Given the description of an element on the screen output the (x, y) to click on. 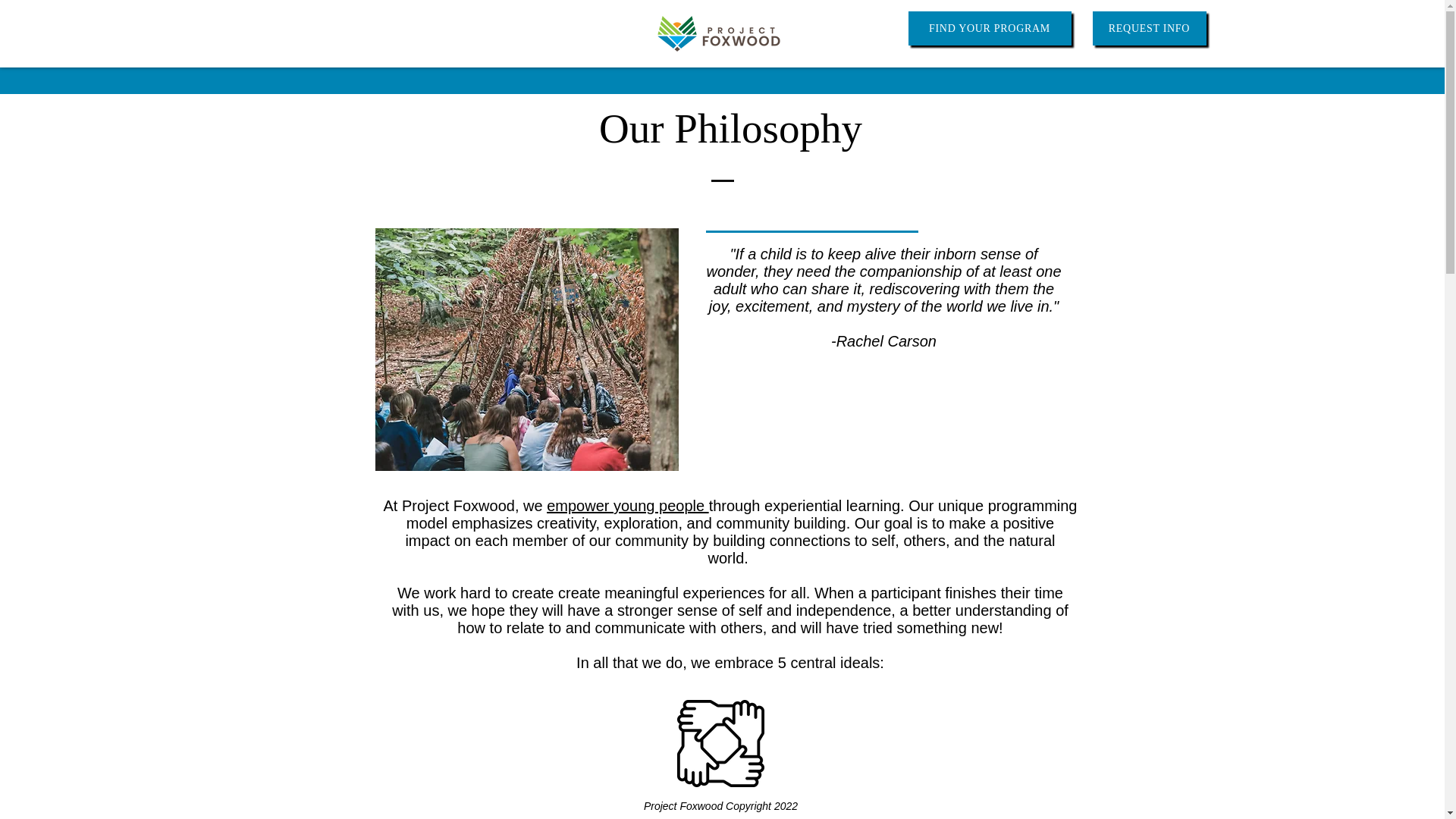
empower young people  (627, 505)
REQUEST INFO (1148, 28)
FIND YOUR PROGRAM (989, 28)
logo-project-foxwood-horizontal.png (718, 33)
